Given the description of an element on the screen output the (x, y) to click on. 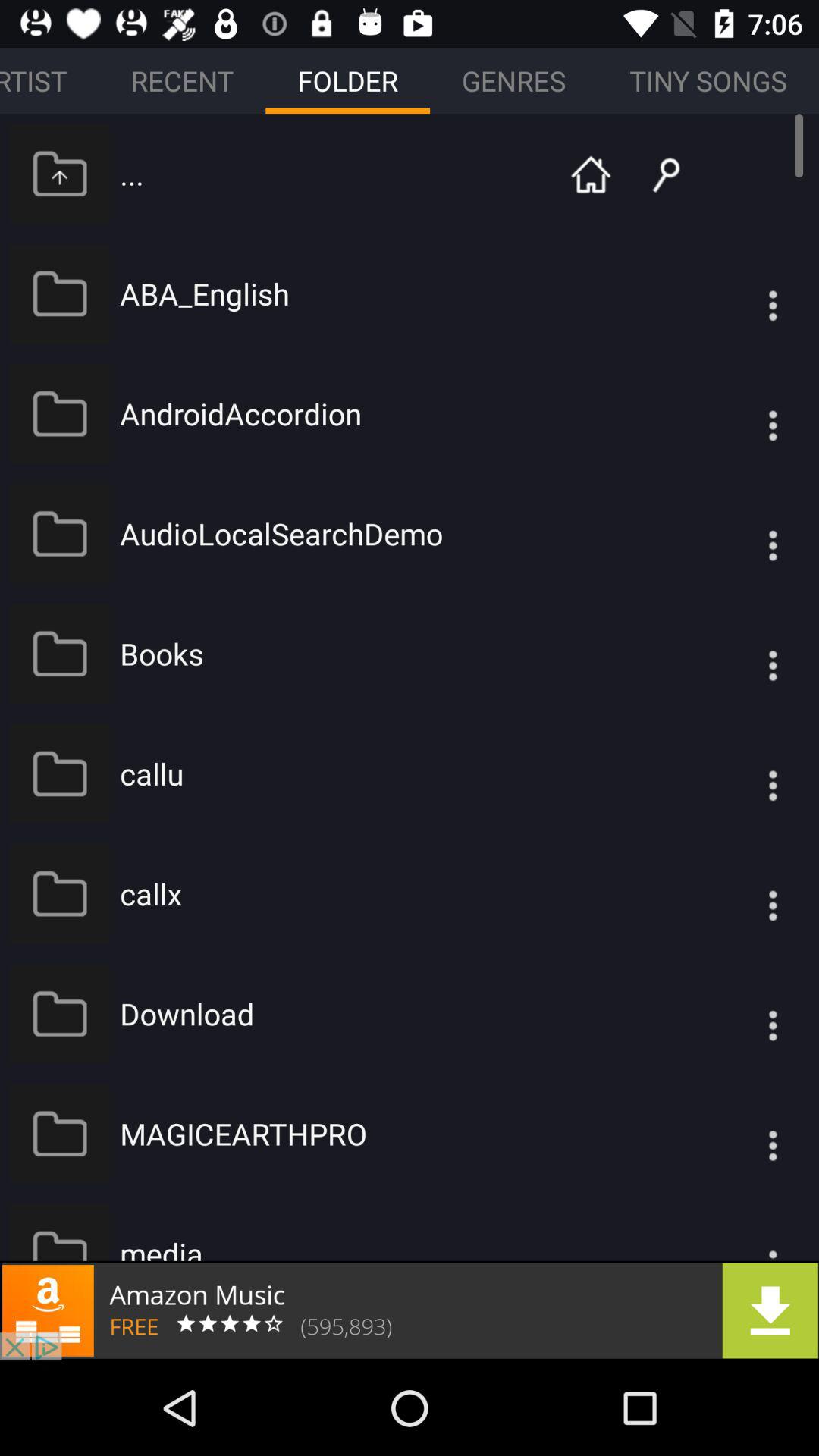
view options (742, 413)
